Given the description of an element on the screen output the (x, y) to click on. 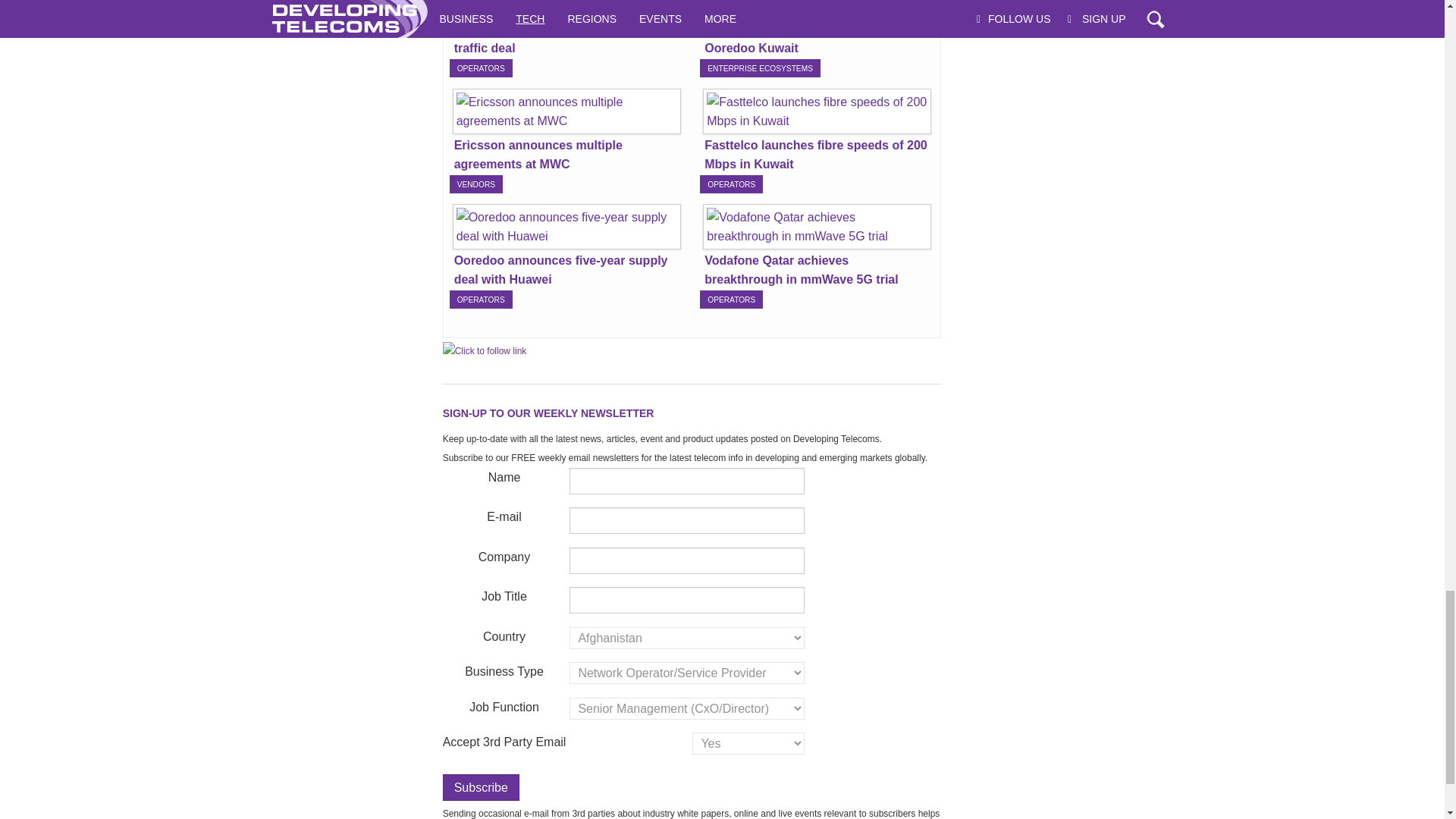
Subscribe (480, 786)
